Given the description of an element on the screen output the (x, y) to click on. 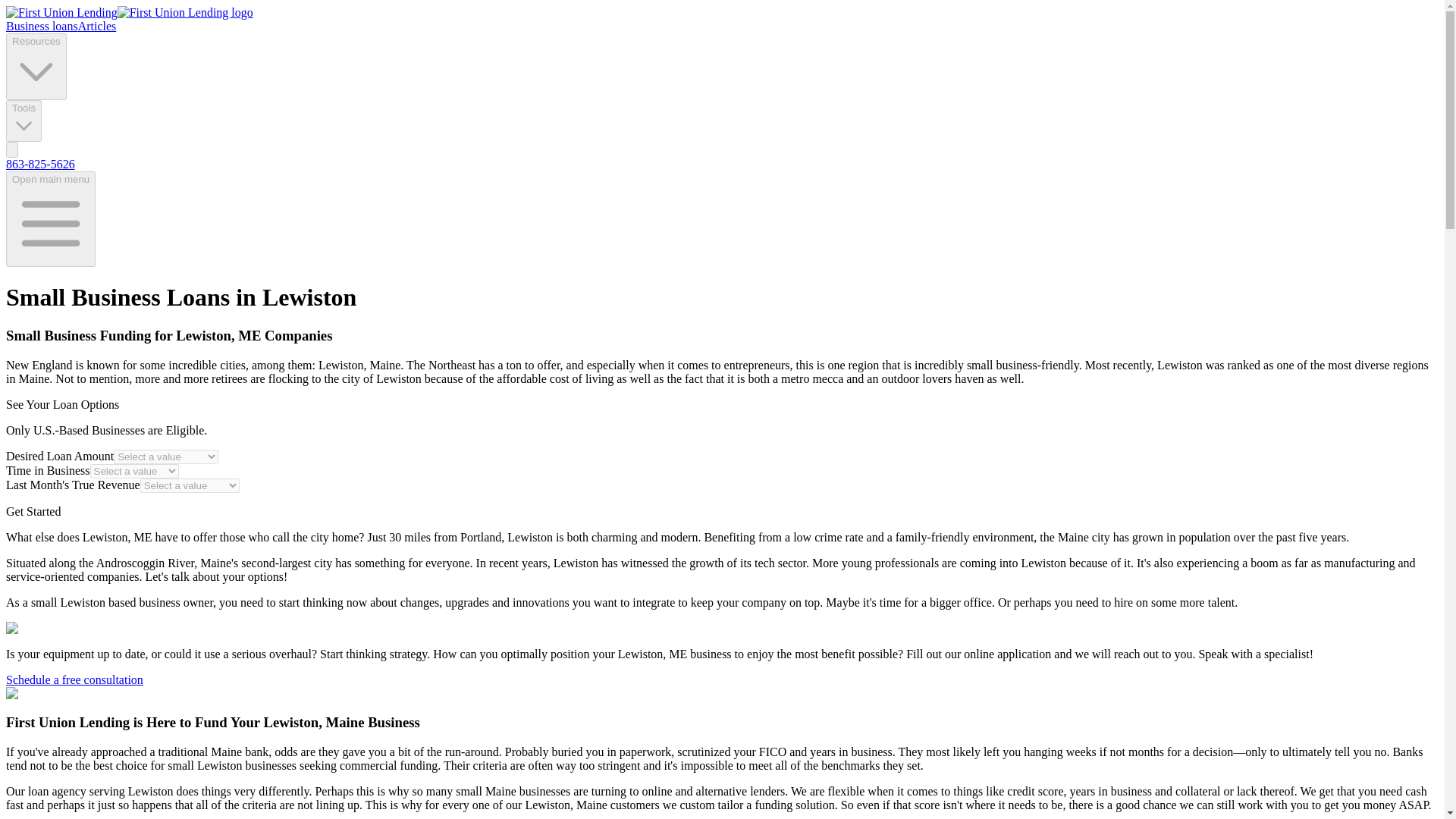
Business loans (41, 25)
Articles (97, 25)
Open main menu (50, 218)
863-825-5626 (40, 164)
Schedule a free consultation (73, 679)
Resources (35, 66)
